Given the description of an element on the screen output the (x, y) to click on. 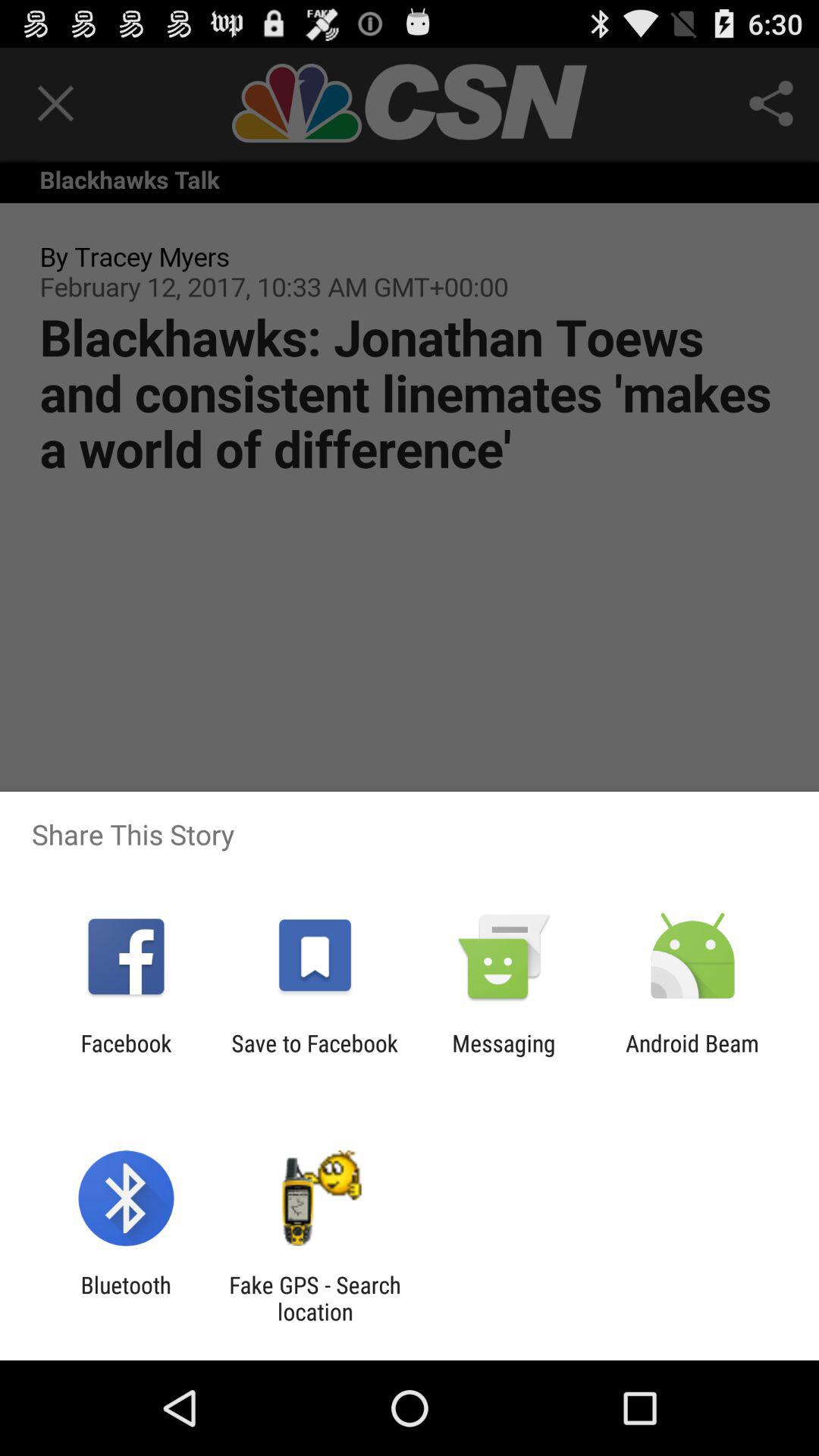
turn off icon to the left of messaging (314, 1056)
